Given the description of an element on the screen output the (x, y) to click on. 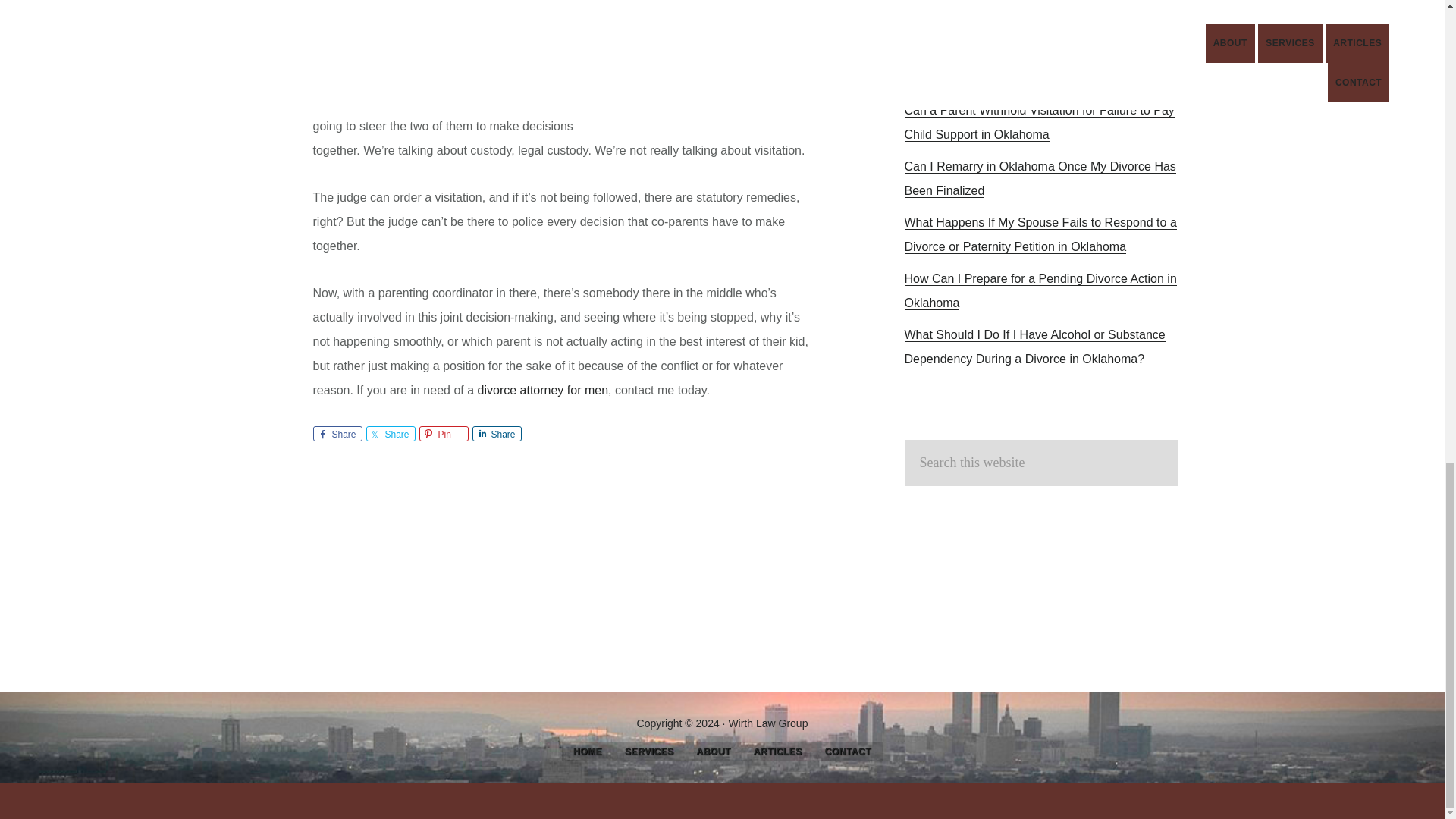
Share (496, 433)
Pin (443, 433)
Share (337, 433)
divorce attorney for men (542, 390)
Share (389, 433)
